Given the description of an element on the screen output the (x, y) to click on. 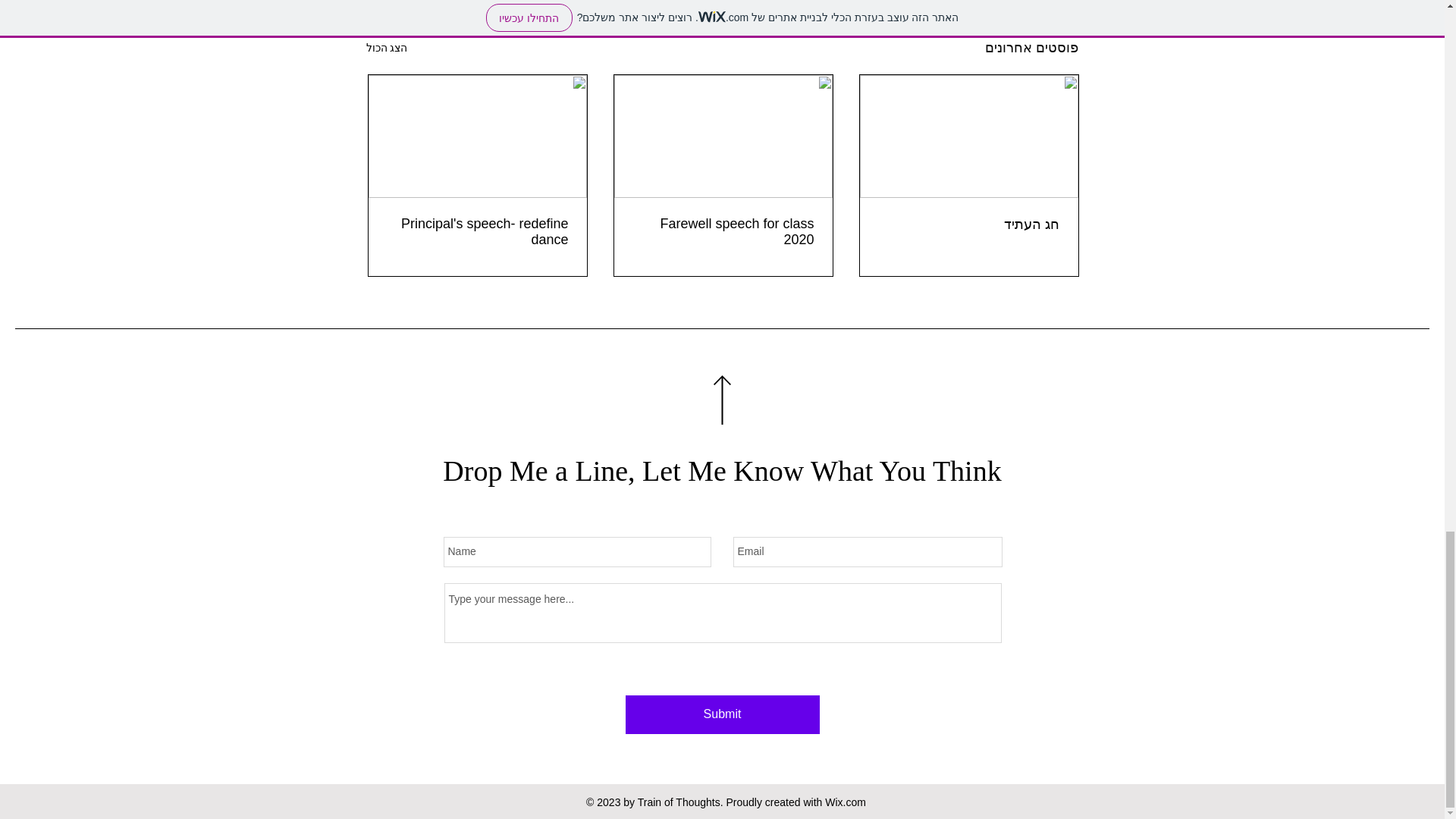
Farewell speech for class 2020 (722, 232)
Wix.com (845, 802)
Submit (721, 714)
Principal's speech- redefine dance (478, 232)
